Given the description of an element on the screen output the (x, y) to click on. 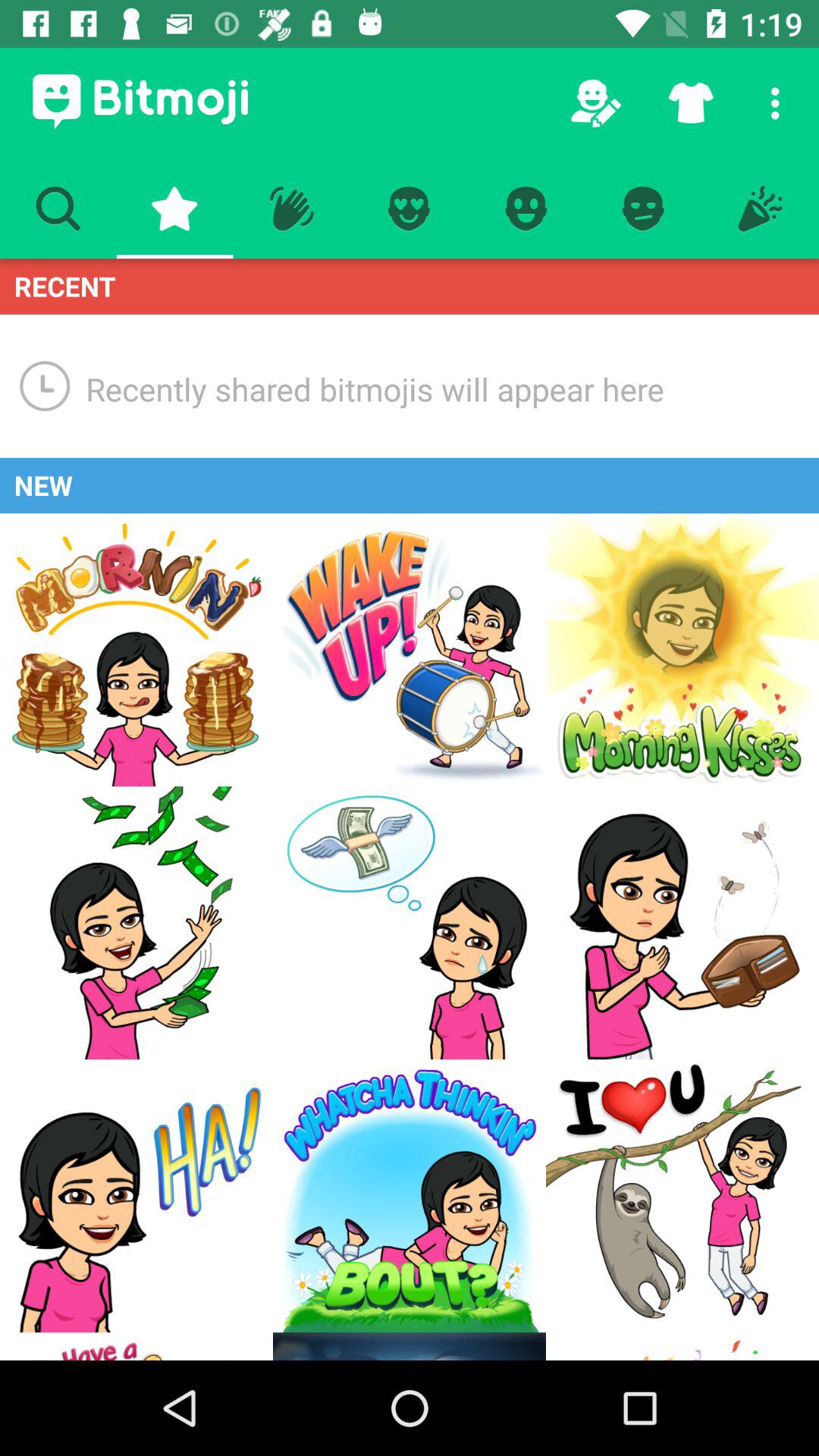
mornin bitmoji (136, 649)
